Given the description of an element on the screen output the (x, y) to click on. 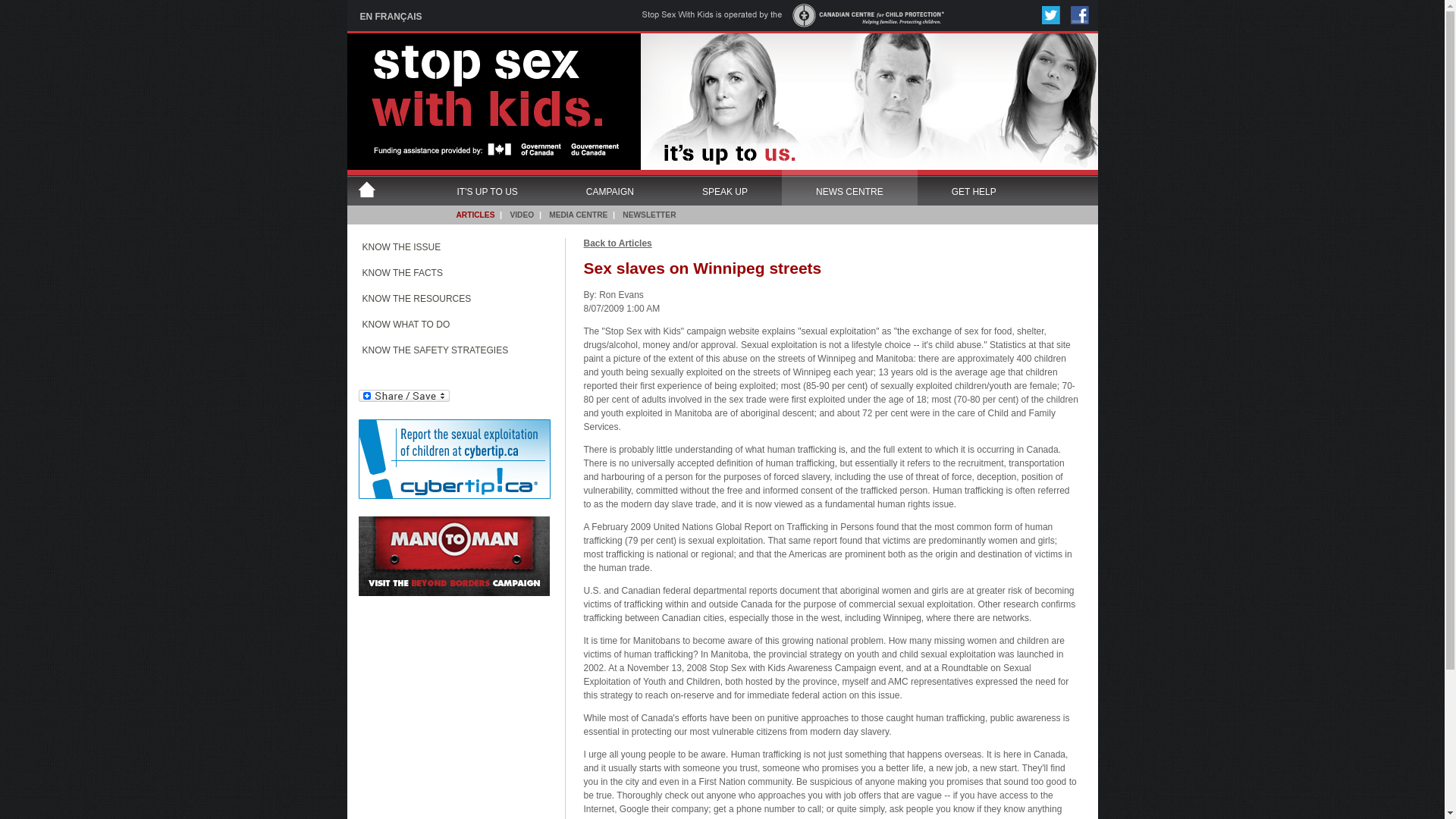
ARTICLES (475, 215)
KNOW THE RESOURCES (449, 302)
NEWS CENTRE (849, 187)
VIDEO (521, 215)
KNOW THE FACTS (449, 276)
SPEAK UP (724, 187)
IT'S UP TO US (487, 187)
Follow us on Twitter (1050, 14)
Government of Canada (555, 151)
